Given the description of an element on the screen output the (x, y) to click on. 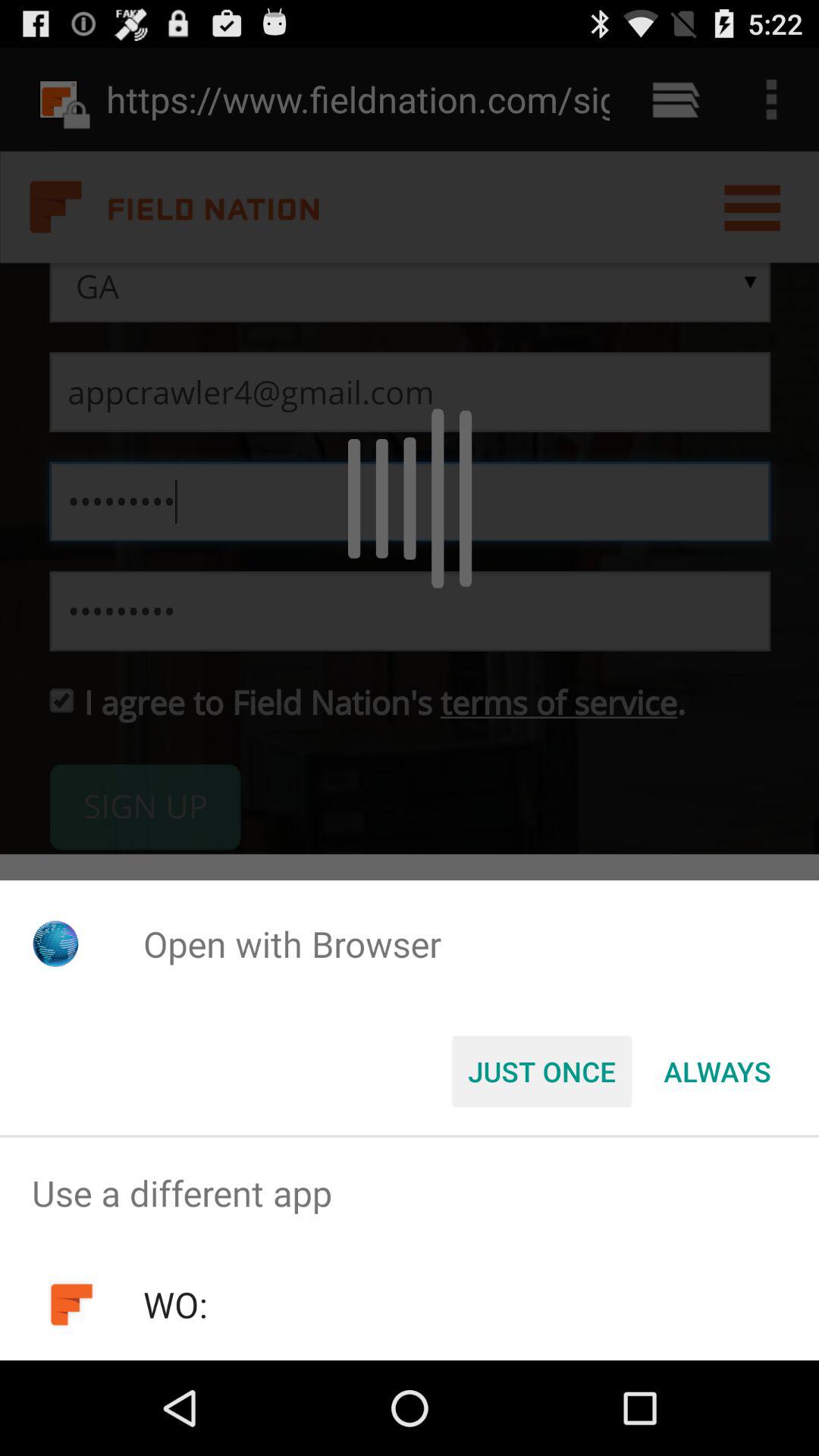
click the item next to always (541, 1071)
